Given the description of an element on the screen output the (x, y) to click on. 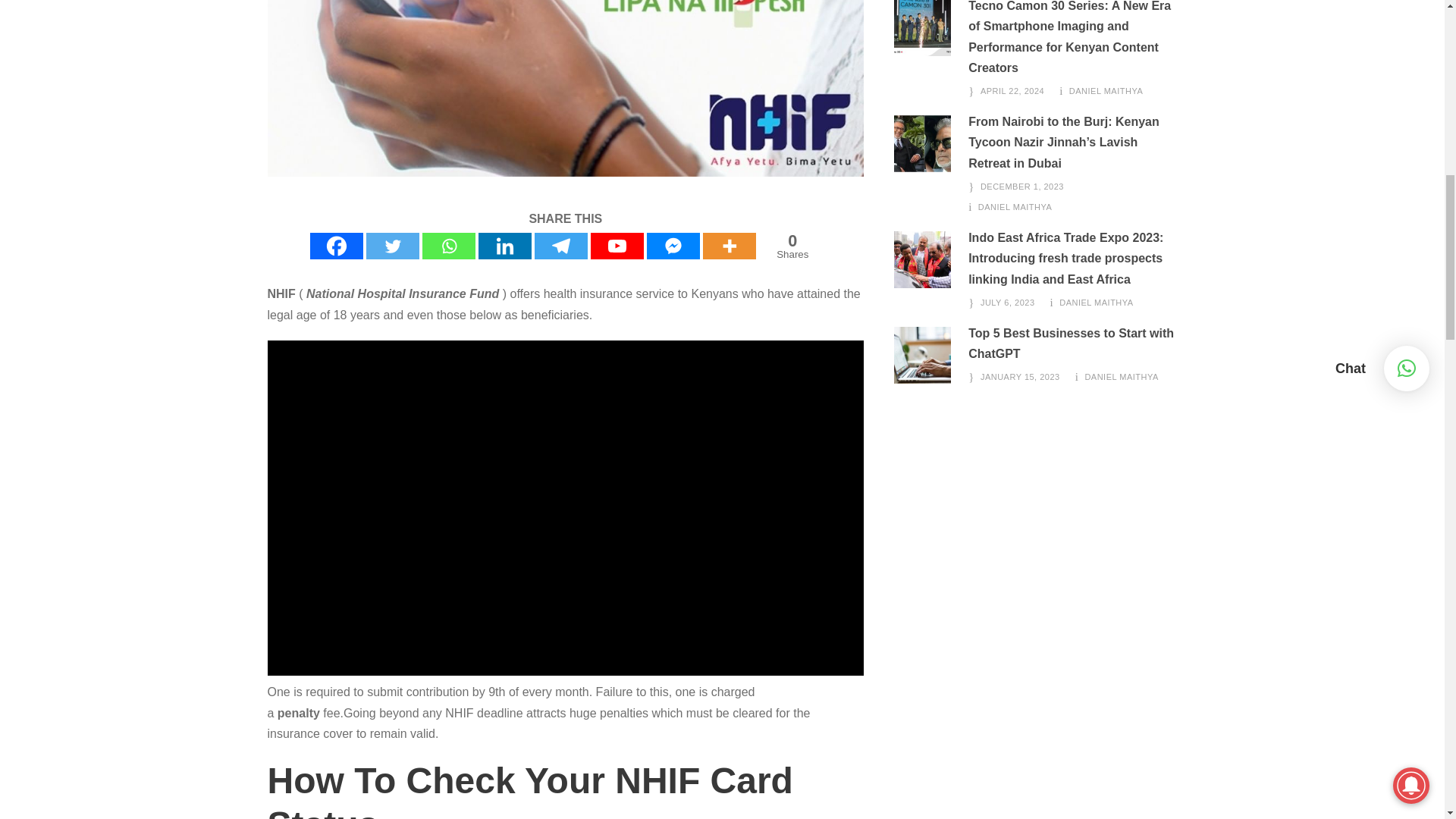
Twitter (392, 245)
Facebook (336, 245)
